Given the description of an element on the screen output the (x, y) to click on. 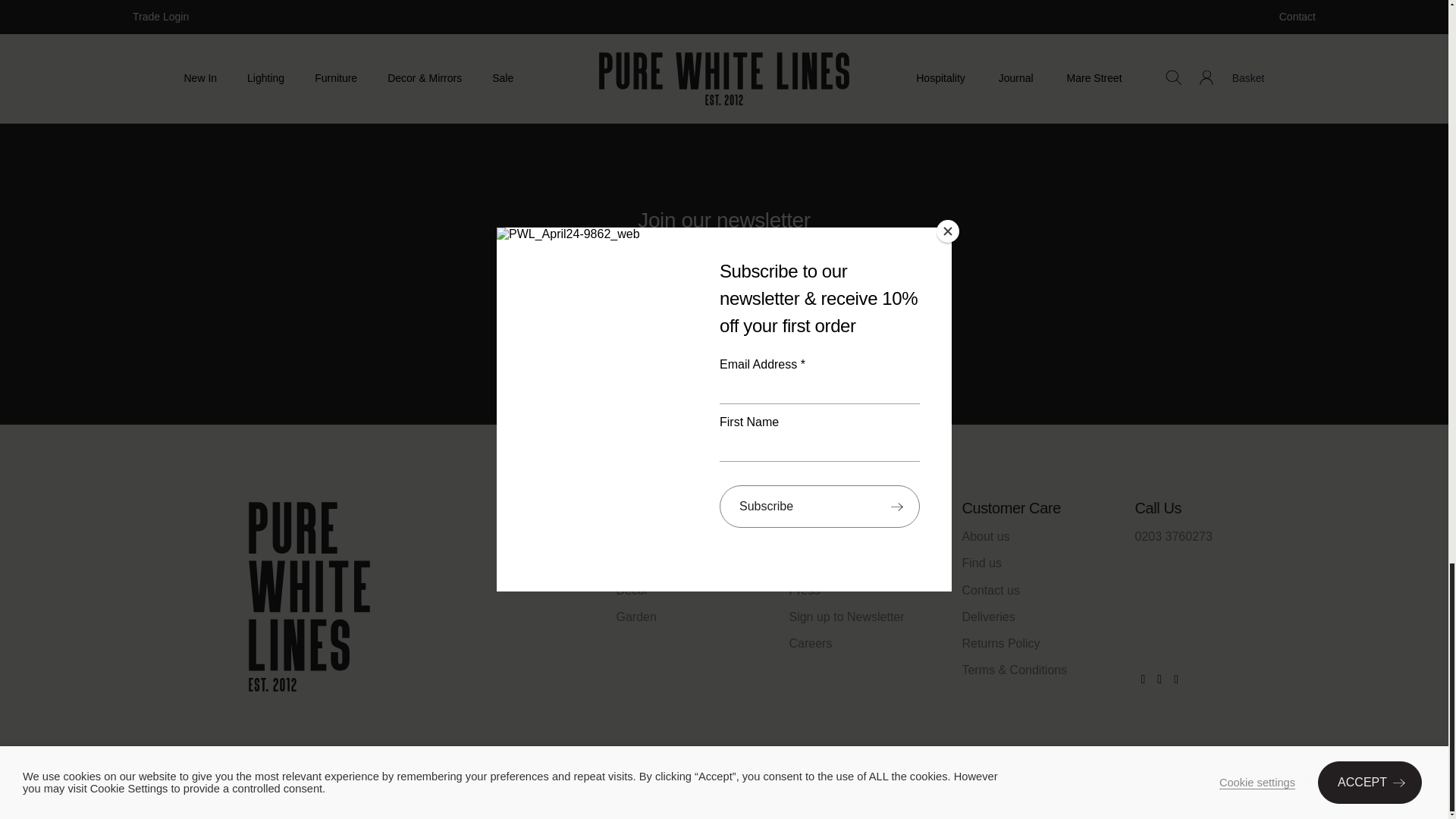
Join now (724, 329)
